Given the description of an element on the screen output the (x, y) to click on. 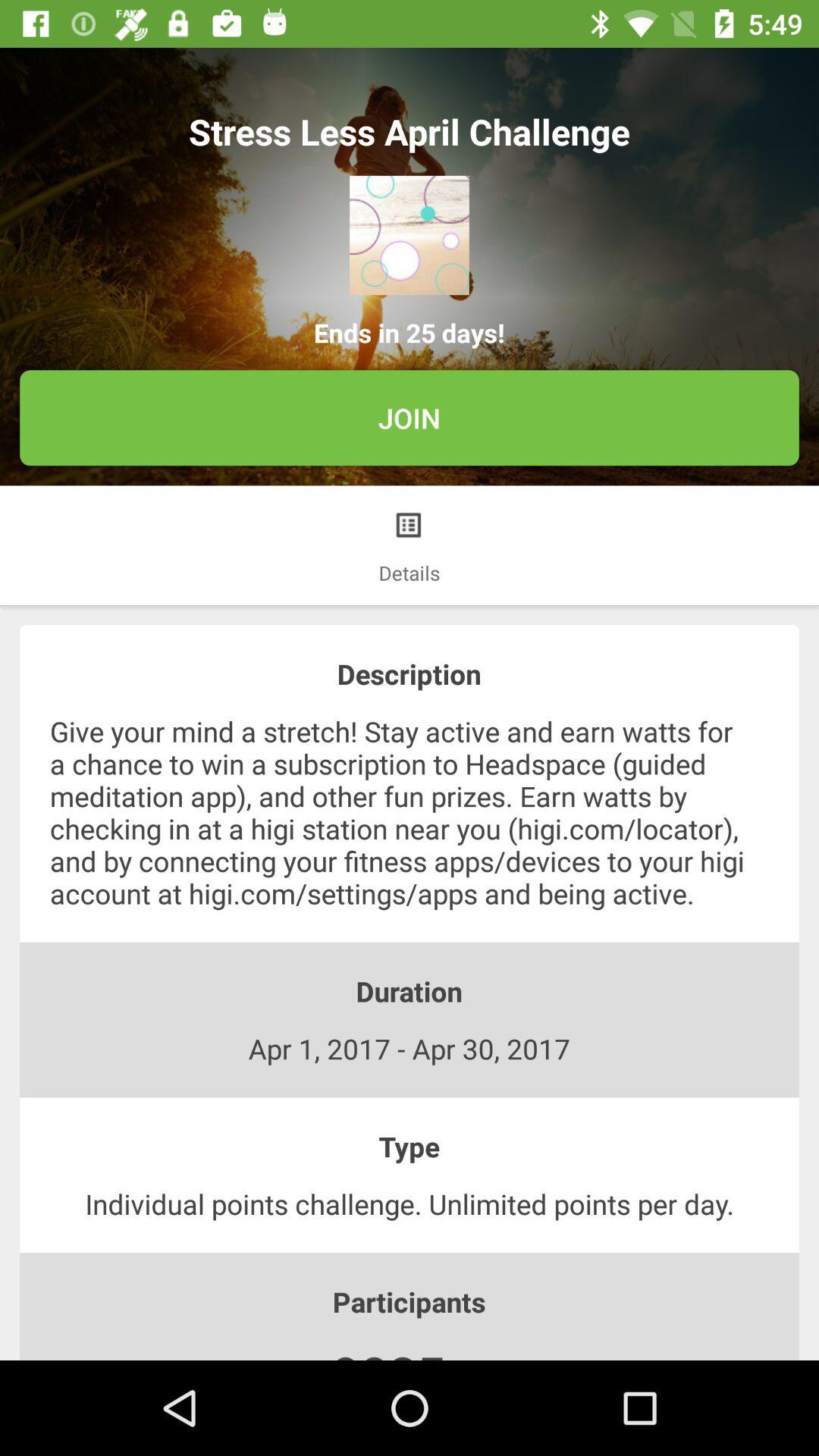
jump to join (409, 417)
